Given the description of an element on the screen output the (x, y) to click on. 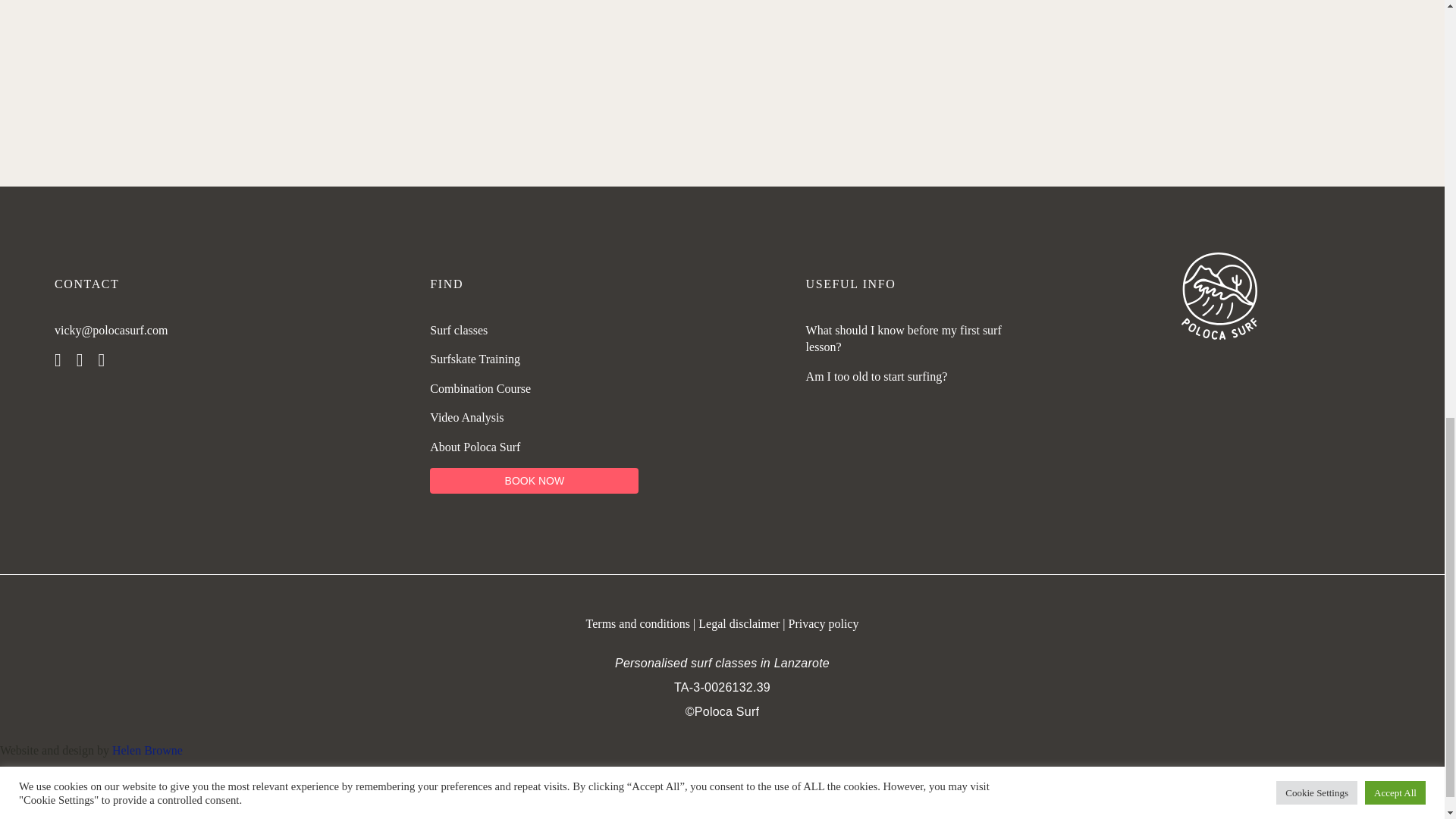
Surf classes (458, 329)
Am I too old to start surfing? (876, 376)
Video Analysis (466, 417)
About Poloca Surf (474, 446)
Surfskate Training (474, 358)
What should I know before my first surf lesson? (903, 337)
Helen Browne (147, 749)
BOOK NOW (534, 480)
Combination Course (480, 388)
Terms and conditions (640, 623)
